Given the description of an element on the screen output the (x, y) to click on. 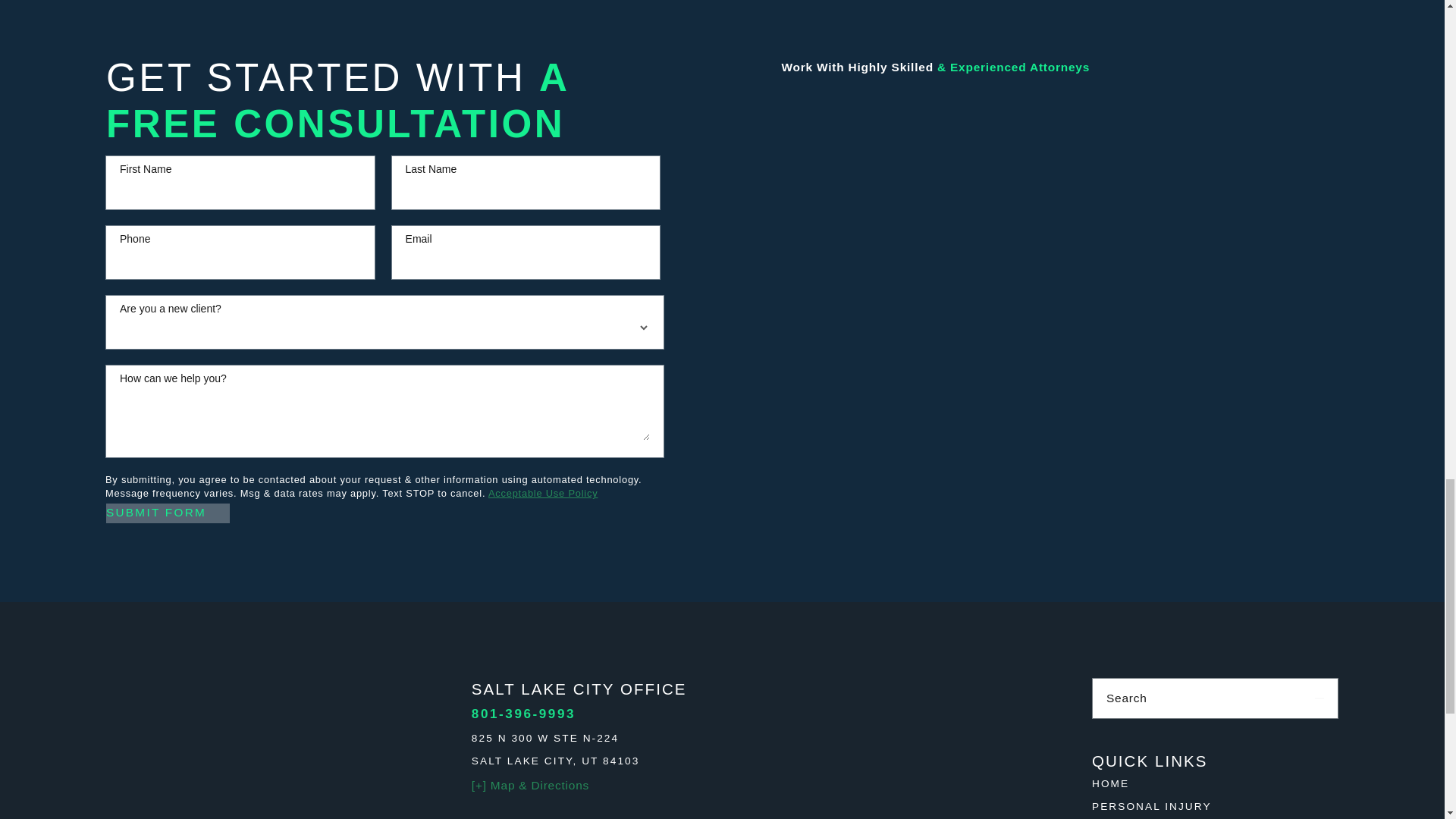
Twitter (1323, 733)
Google Business Profile (1106, 733)
Yelp (1268, 733)
LinkedIn (1214, 733)
Facebook (1160, 733)
